Given the description of an element on the screen output the (x, y) to click on. 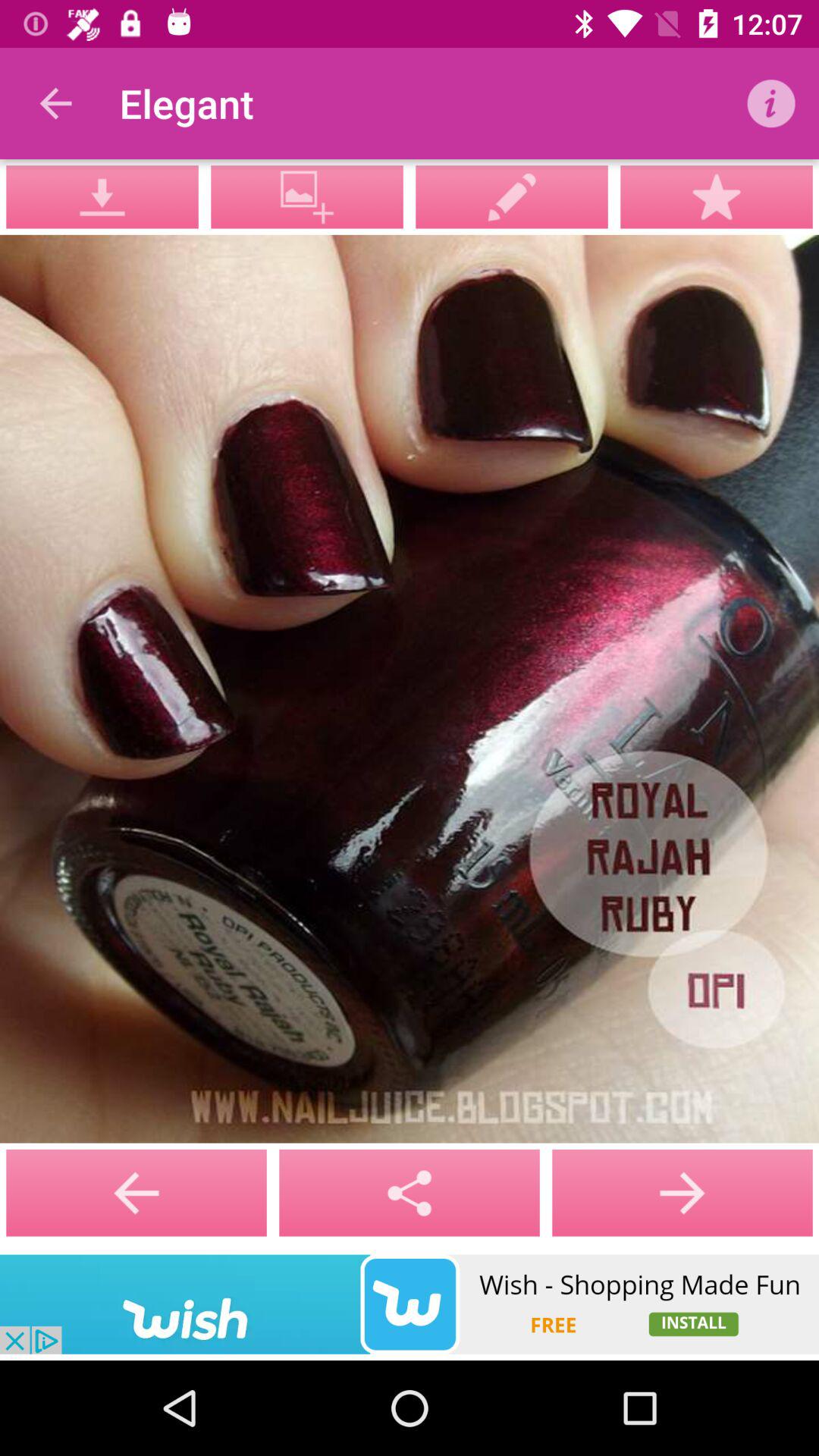
advertisement (409, 1304)
